Given the description of an element on the screen output the (x, y) to click on. 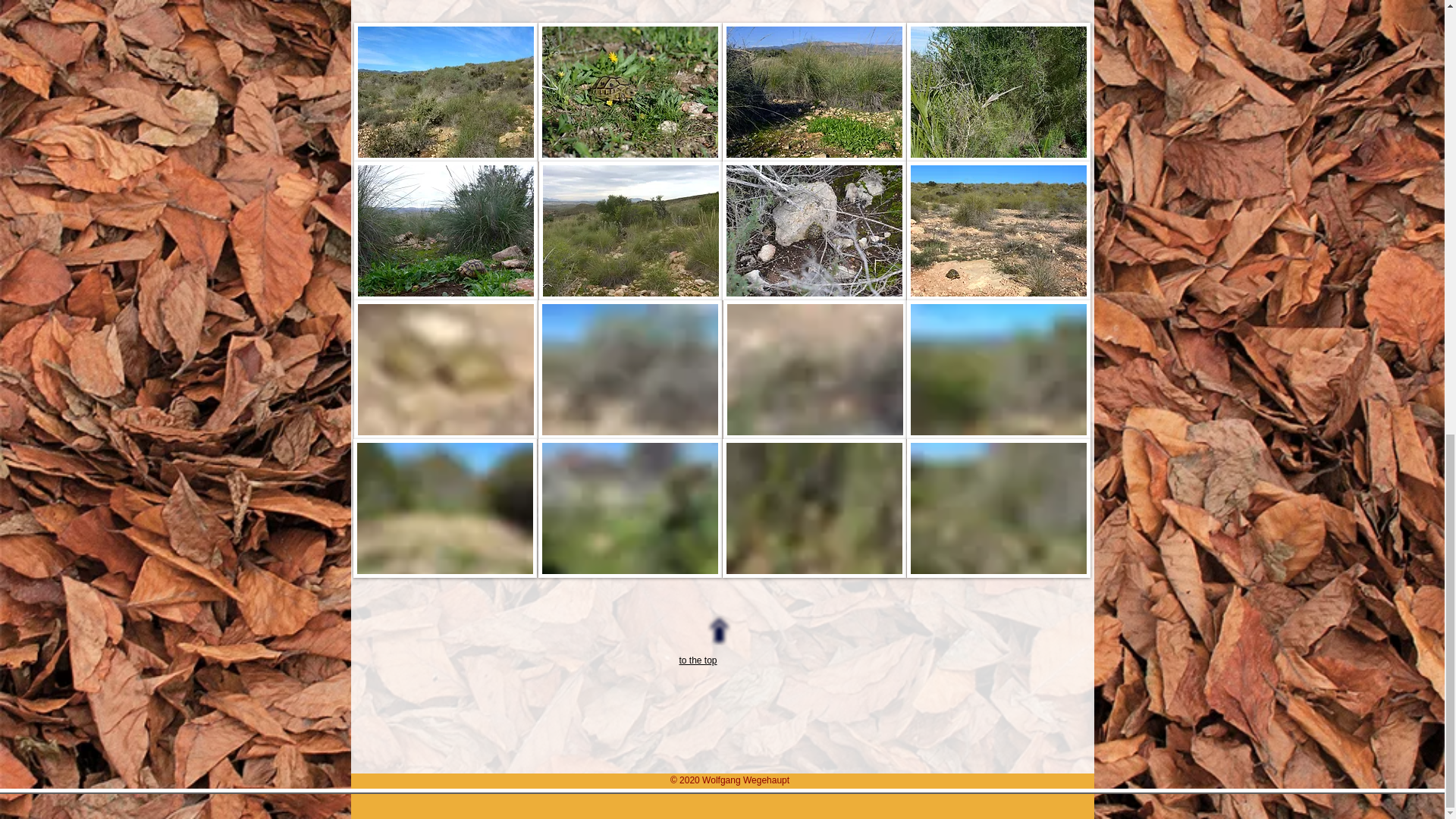
Februar 2020, wilder Rucola (445, 508)
November 2018, Weibchen beim Fressen. (813, 91)
